Given the description of an element on the screen output the (x, y) to click on. 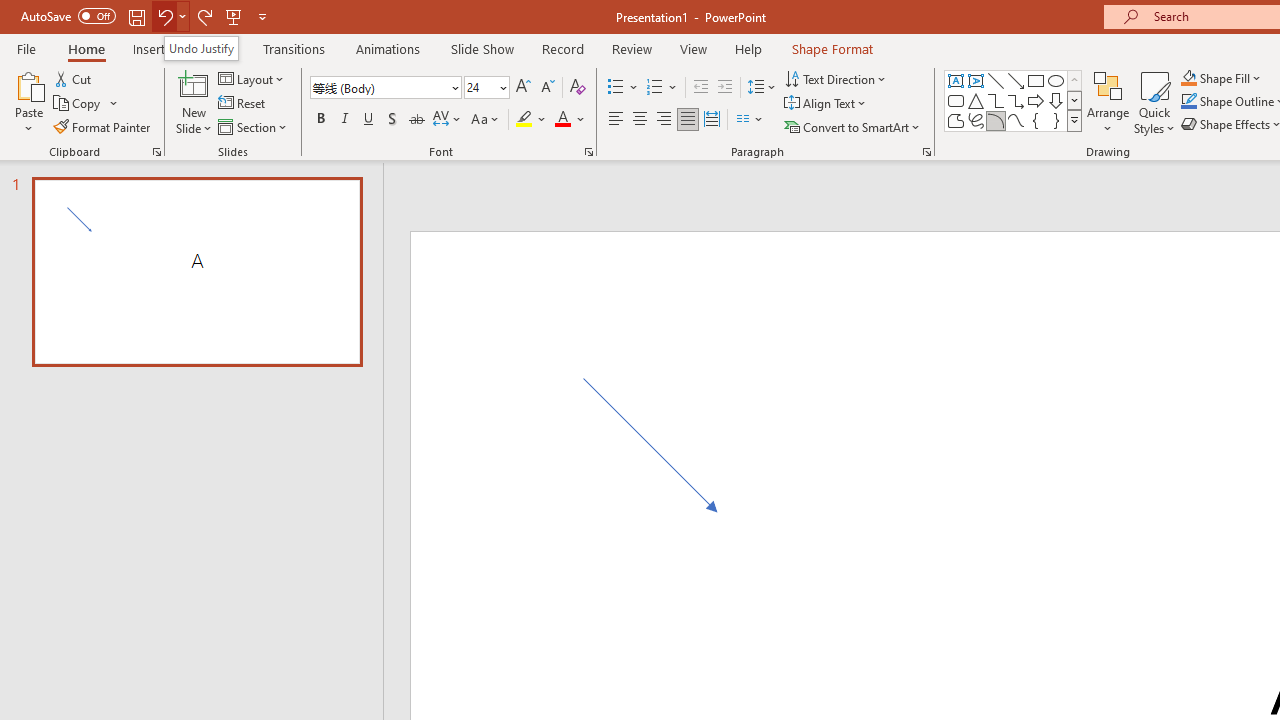
Undo Justify (201, 48)
